Given the description of an element on the screen output the (x, y) to click on. 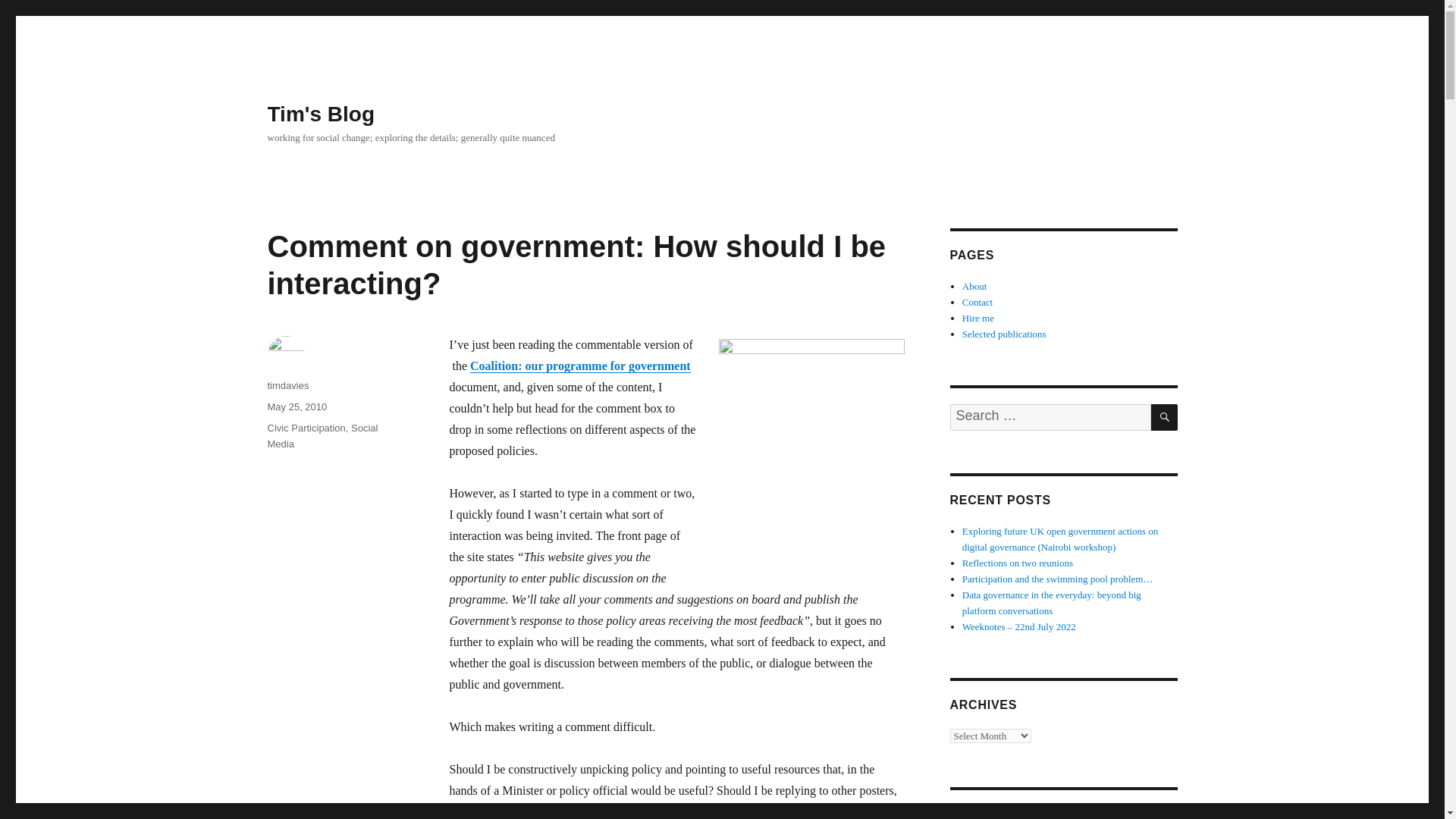
Coalition: our programme for government (580, 365)
timdavies (287, 385)
Civic Participation (305, 428)
May 25, 2010 (296, 406)
Social Media (321, 435)
Tim's Blog (320, 114)
